Given the description of an element on the screen output the (x, y) to click on. 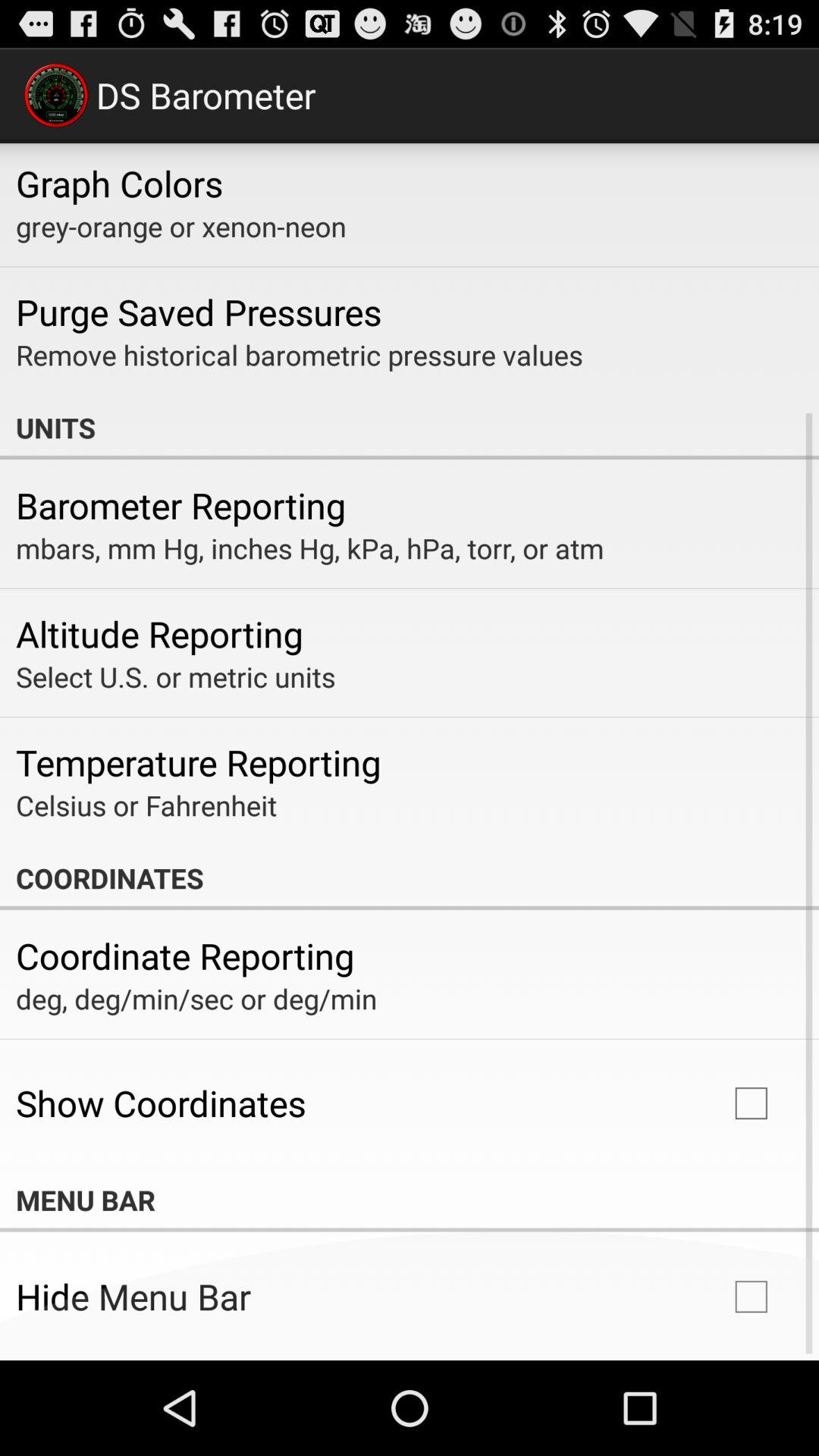
swipe until purge saved pressures item (198, 311)
